Given the description of an element on the screen output the (x, y) to click on. 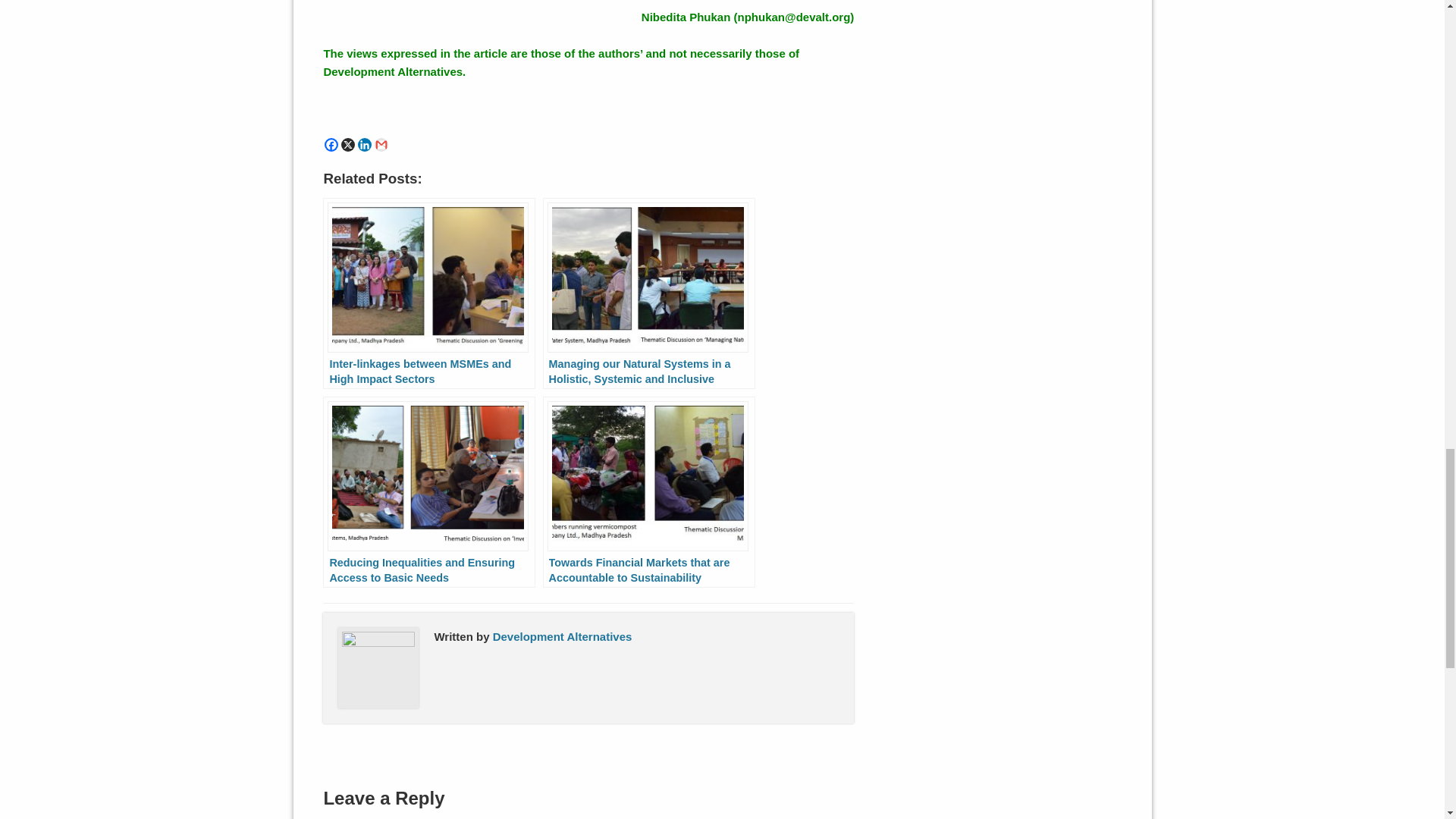
Google Gmail (381, 144)
Reducing Inequalities and Ensuring Access to Basic Needs (429, 492)
Linkedin (364, 144)
Inter-linkages between MSMEs and High Impact Sectors (429, 293)
Inter-linkages between MSMEs and High Impact Sectors (429, 293)
Reducing Inequalities and Ensuring Access to Basic Needs (429, 492)
Development Alternatives (562, 635)
Facebook (330, 144)
X (347, 144)
Posts by Development Alternatives (562, 635)
